Given the description of an element on the screen output the (x, y) to click on. 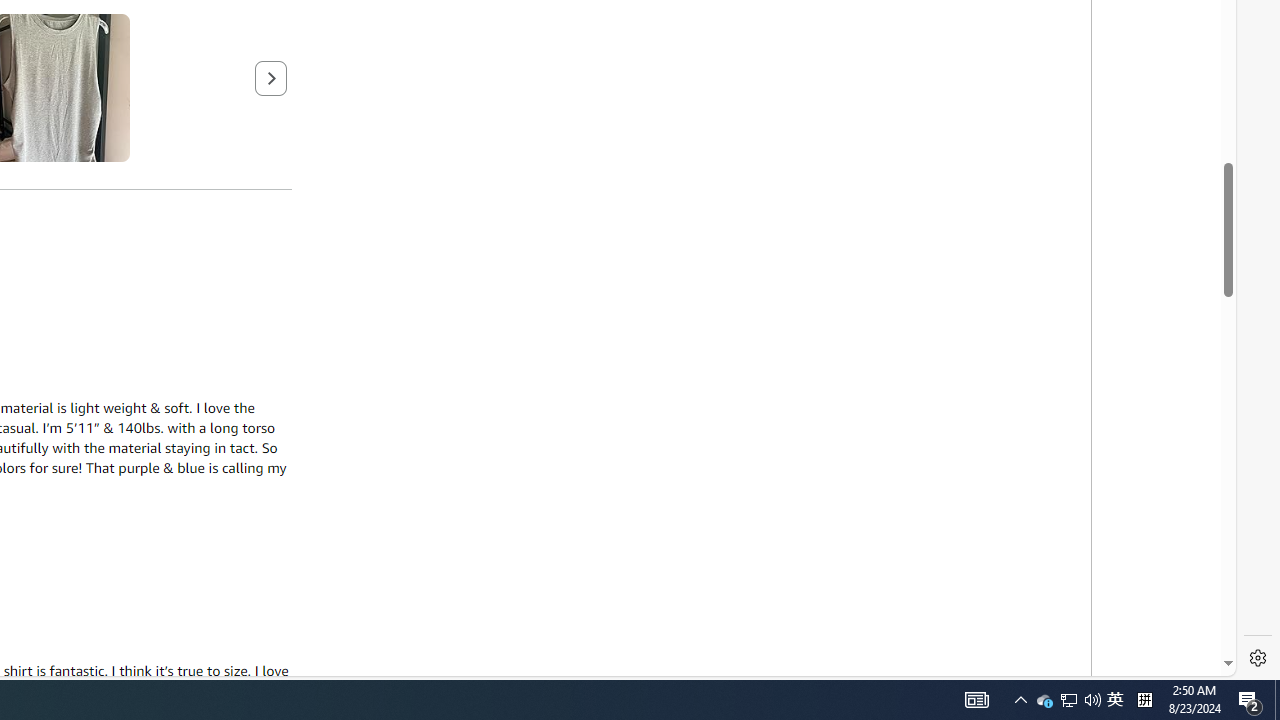
Next page (271, 77)
